Given the description of an element on the screen output the (x, y) to click on. 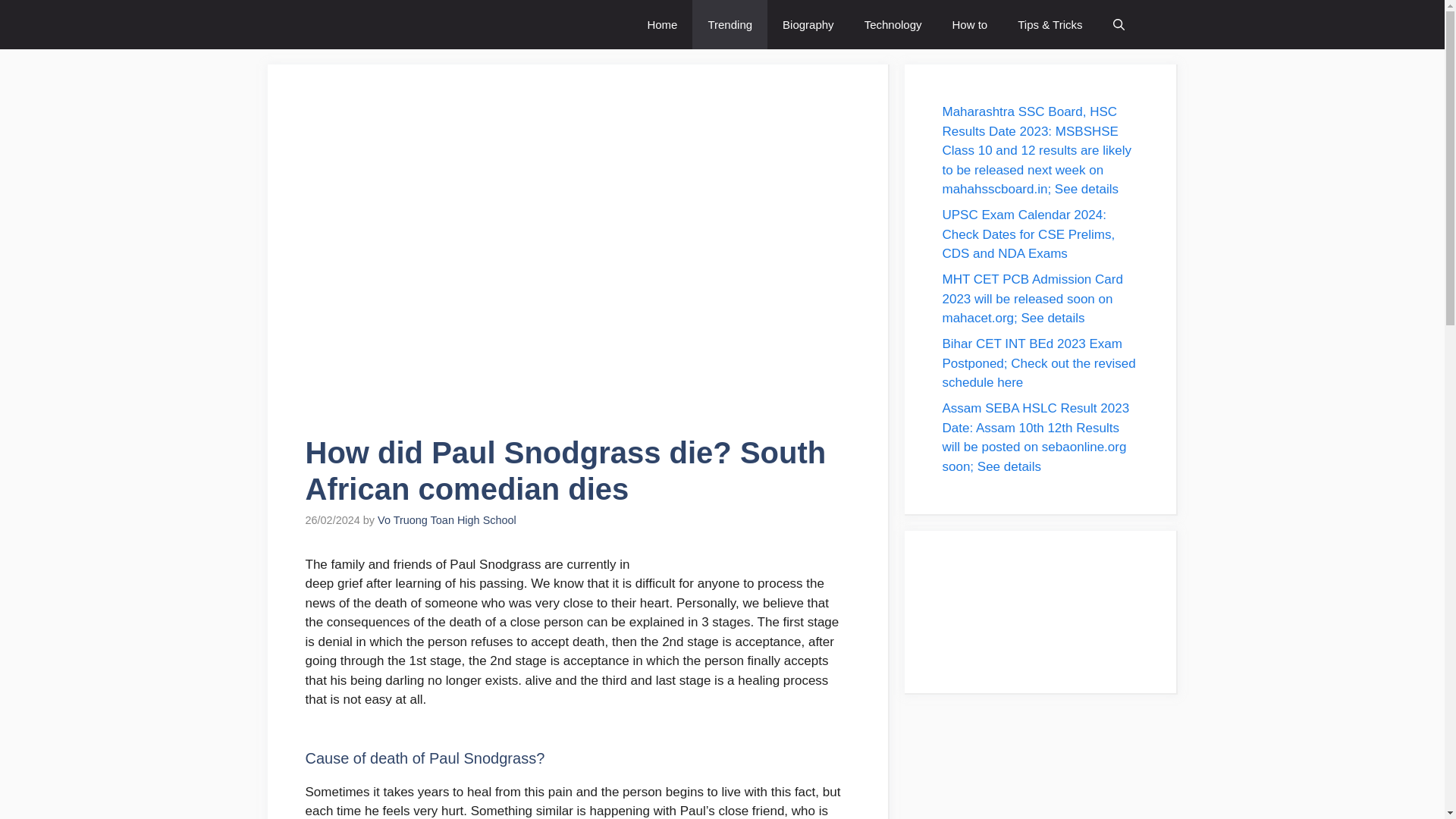
Biography (807, 24)
View all posts by Vo Truong Toan High School (446, 520)
Technology (892, 24)
Trending (730, 24)
Home (662, 24)
Vo Truong Toan High School (446, 520)
How to (970, 24)
